Given the description of an element on the screen output the (x, y) to click on. 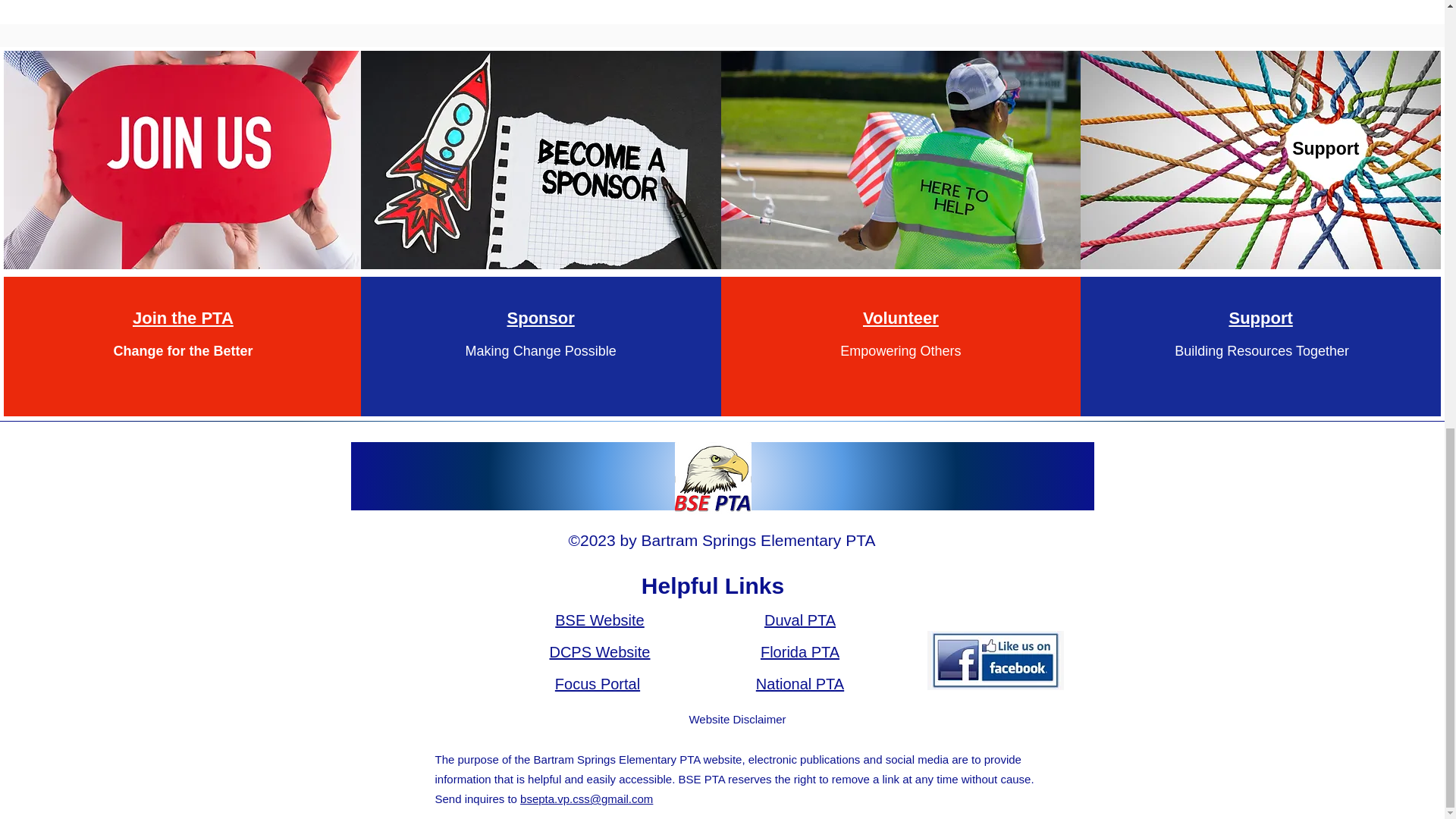
Duval PTA (799, 619)
Florida PTA (800, 651)
Sponsor (540, 316)
National PTA (799, 683)
DCPS Website (598, 651)
Volunteer (901, 316)
Join the PTA (182, 316)
Support (1260, 316)
BSE Website (598, 619)
Focus Portal (597, 683)
